Given the description of an element on the screen output the (x, y) to click on. 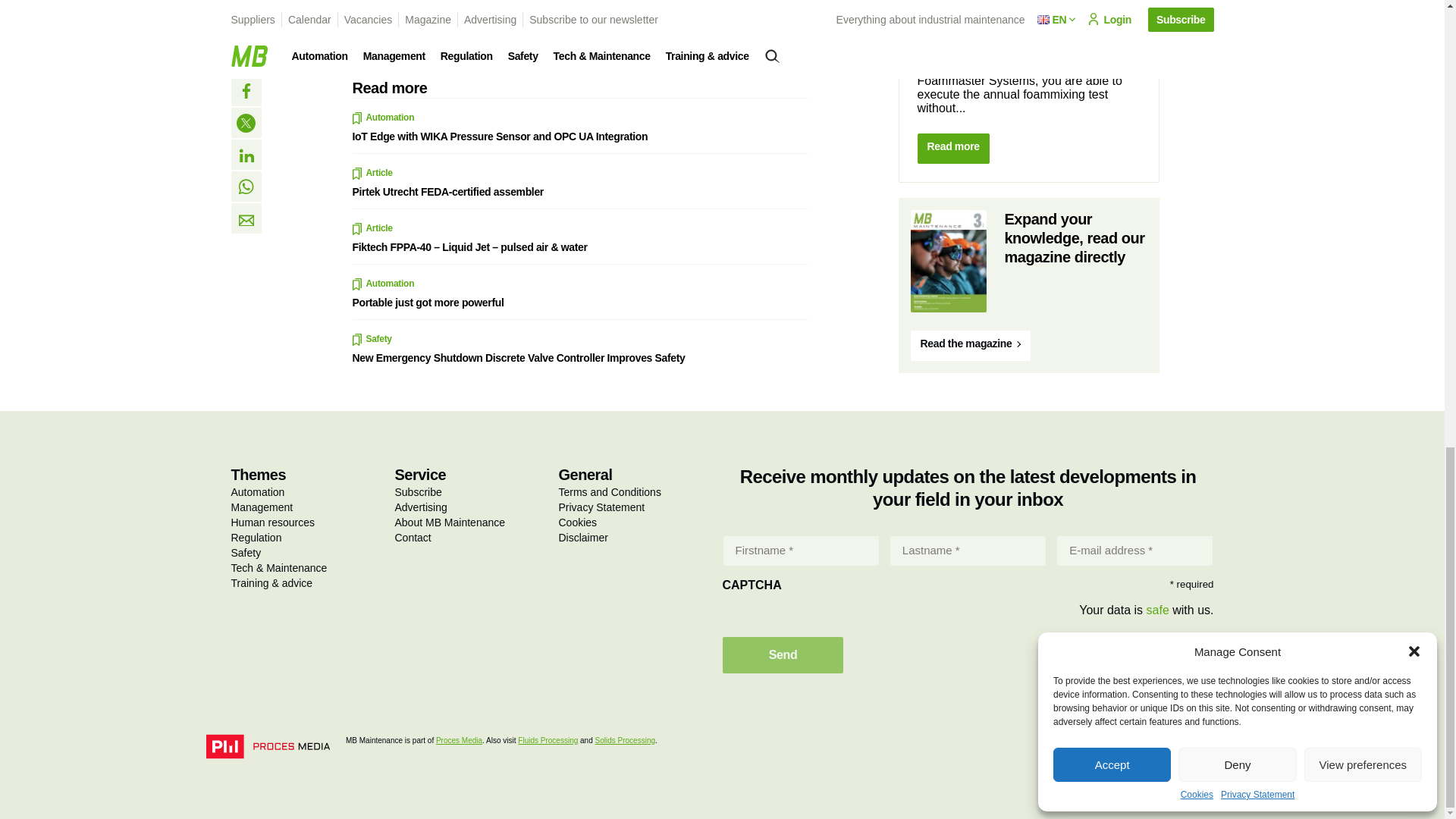
Send (782, 655)
